Given the description of an element on the screen output the (x, y) to click on. 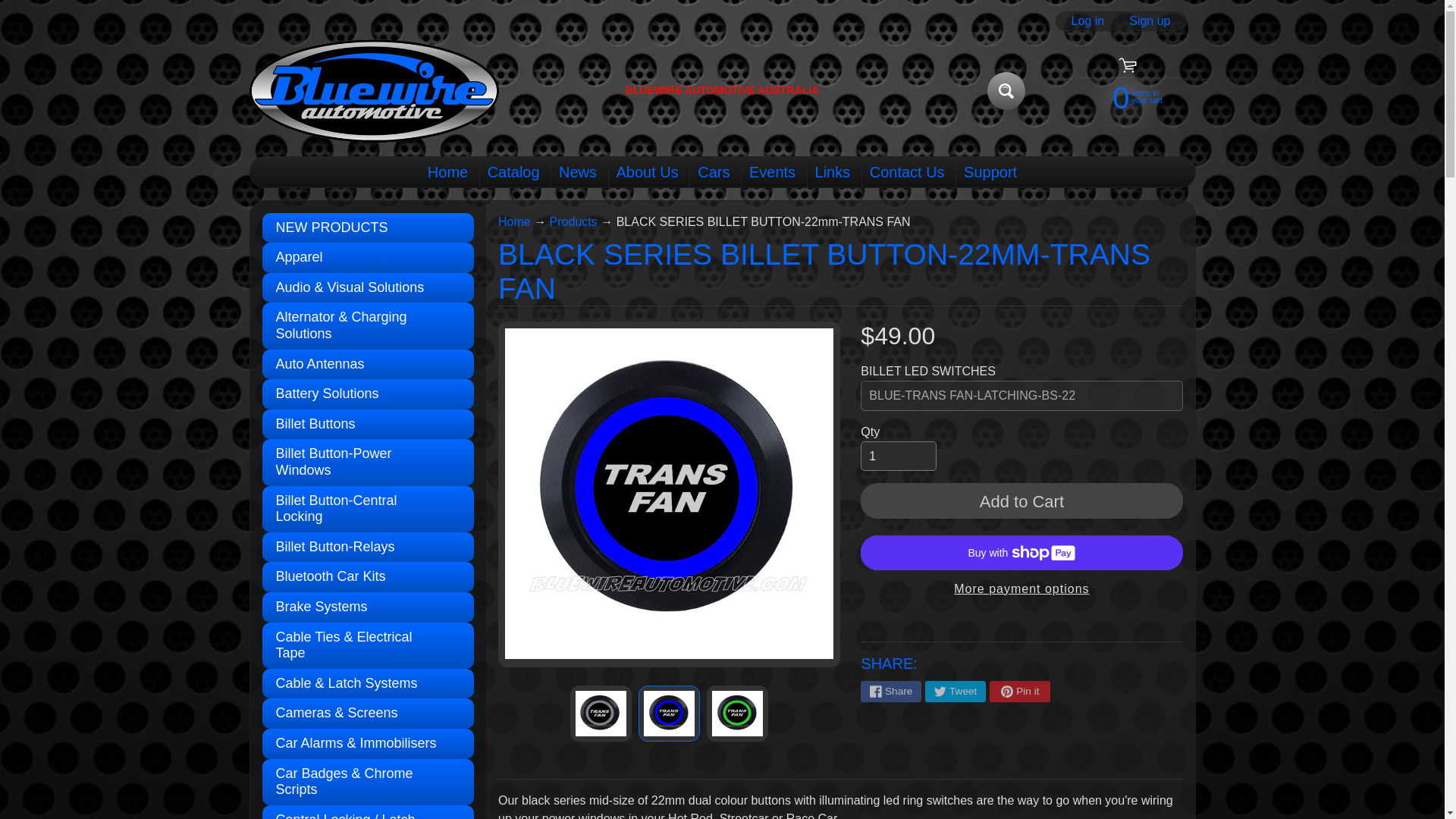
Cars (713, 172)
Billet Button-Power Windows (368, 461)
Bluewire Automotive (373, 90)
Support (990, 172)
BLACK SERIES BILLET BUTTON-22mm-TRANS FAN (600, 713)
NEW PRODUCTS (368, 227)
Billet Button-Relays (368, 547)
Billet Button-Central Locking (368, 509)
Catalog (513, 172)
Links (833, 172)
BLACK SERIES BILLET BUTTON-22mm-TRANS FAN (737, 713)
Pin on Pinterest (1019, 690)
Home (448, 172)
Search (1006, 90)
Log in (1088, 21)
